Given the description of an element on the screen output the (x, y) to click on. 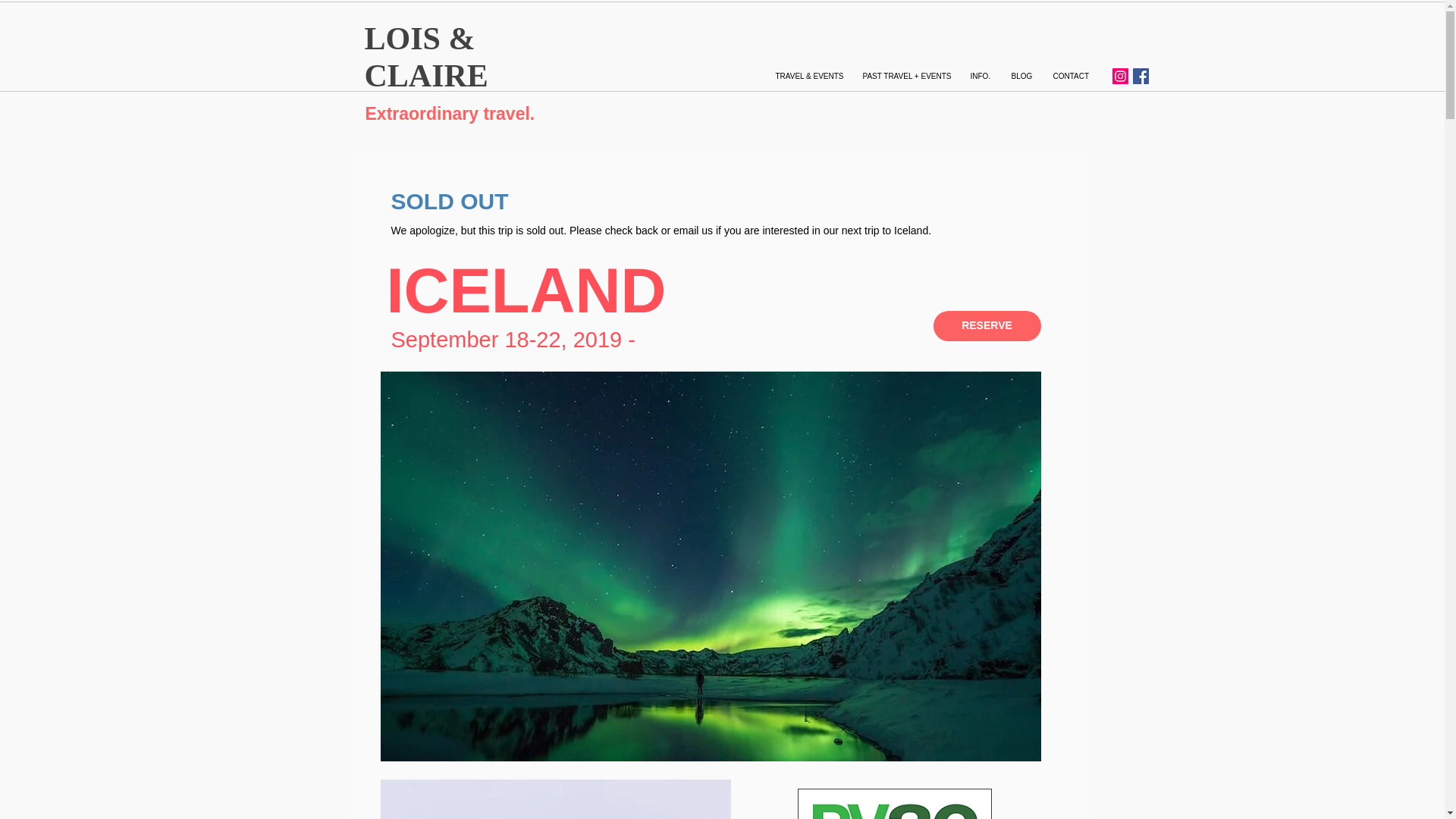
BLOG (1019, 76)
CONTACT (1070, 76)
RESERVE (987, 326)
